Given the description of an element on the screen output the (x, y) to click on. 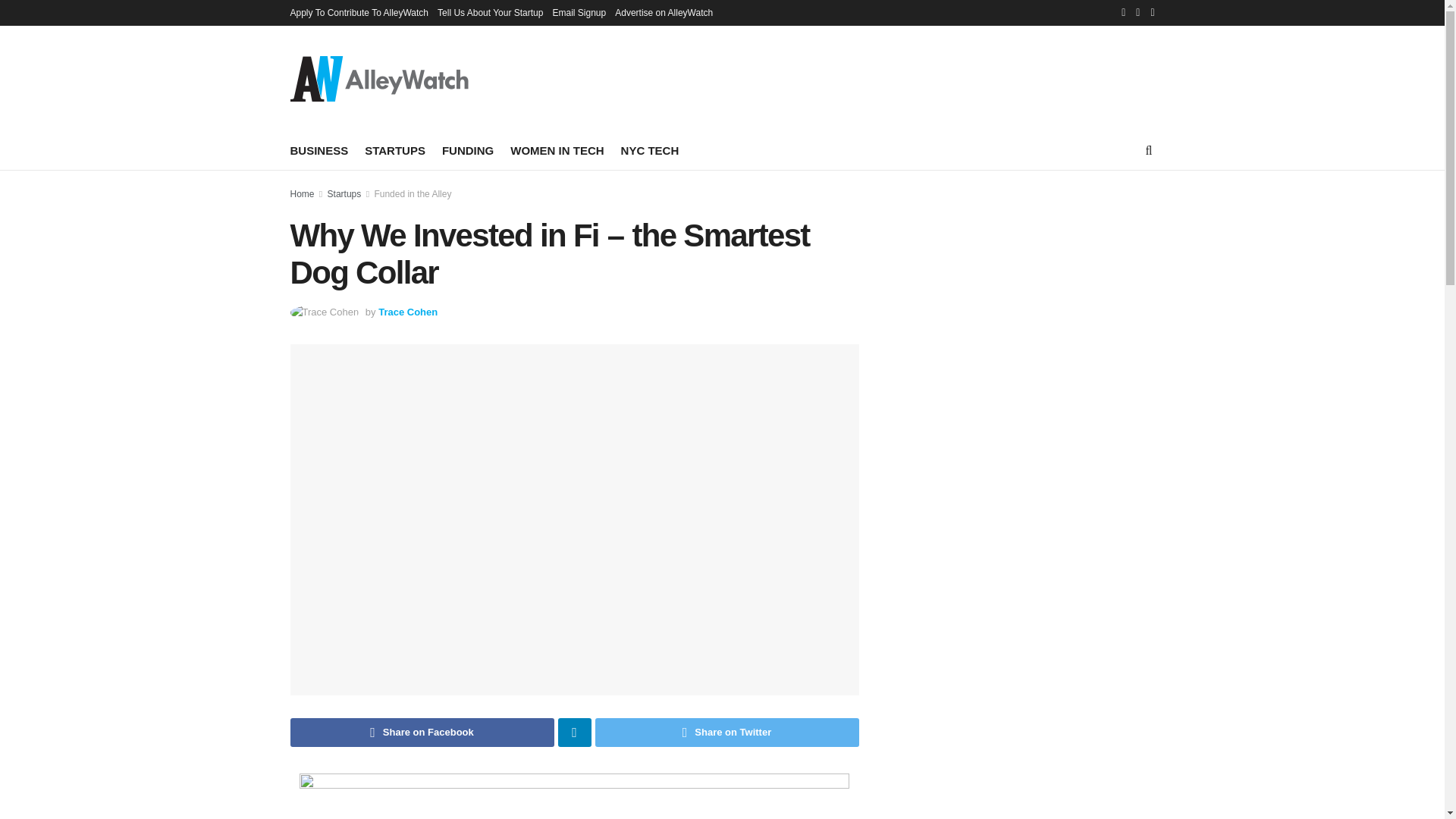
STARTUPS (395, 150)
Startups (344, 194)
Email Signup (578, 12)
Share on Facebook (421, 732)
Apply To Contribute To AlleyWatch (358, 12)
Advertise on AlleyWatch (663, 12)
NYC TECH (650, 150)
BUSINESS (318, 150)
FUNDING (467, 150)
Tell Us About Your Startup (490, 12)
